Given the description of an element on the screen output the (x, y) to click on. 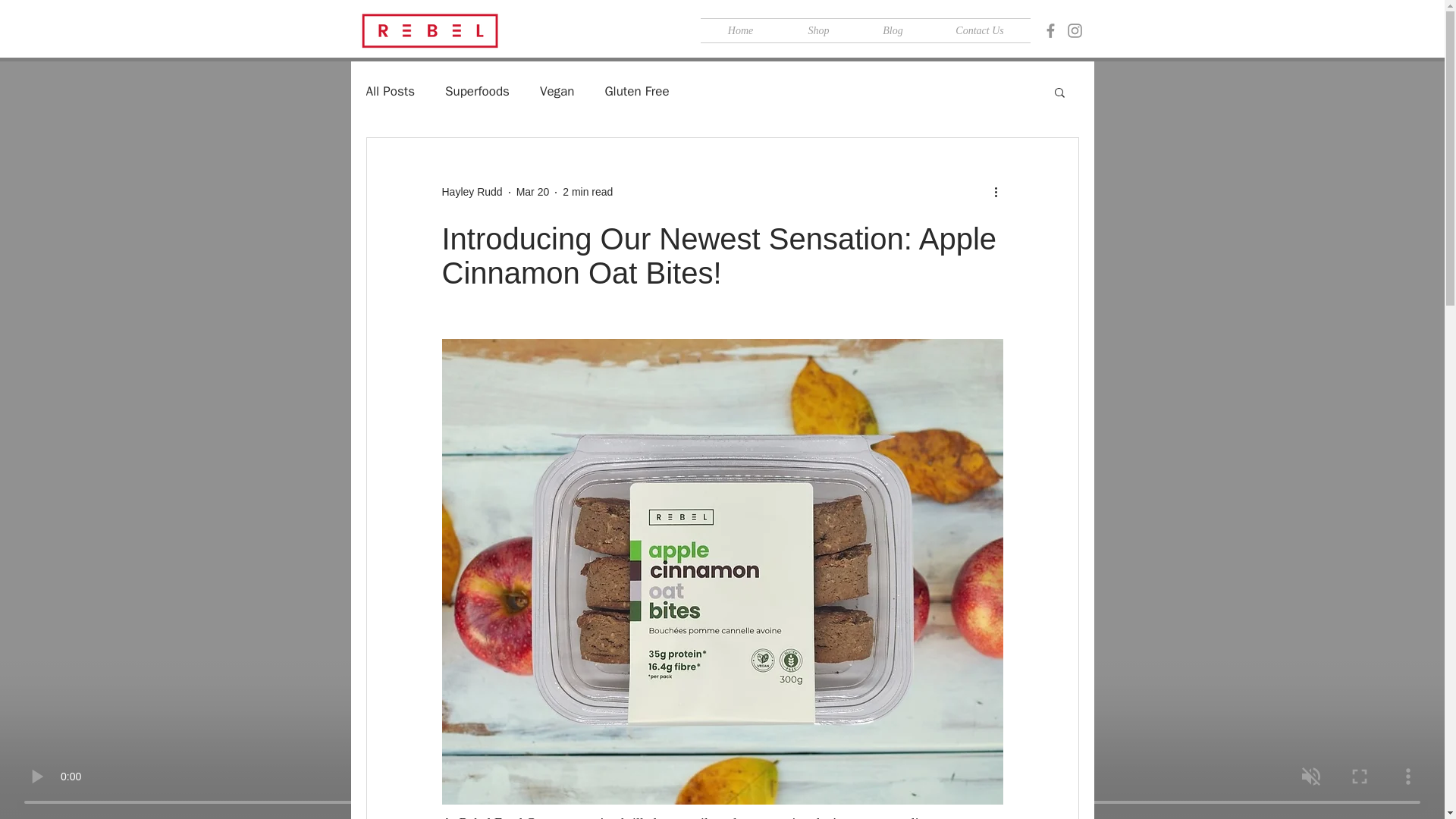
Shop (818, 30)
Home (740, 30)
Vegan (557, 90)
2 min read (587, 191)
Blog (893, 30)
Mar 20 (533, 191)
Contact Us (980, 30)
Hayley Rudd (471, 191)
Hayley Rudd (471, 191)
All Posts (389, 90)
Gluten Free (636, 90)
Superfoods (477, 90)
